Given the description of an element on the screen output the (x, y) to click on. 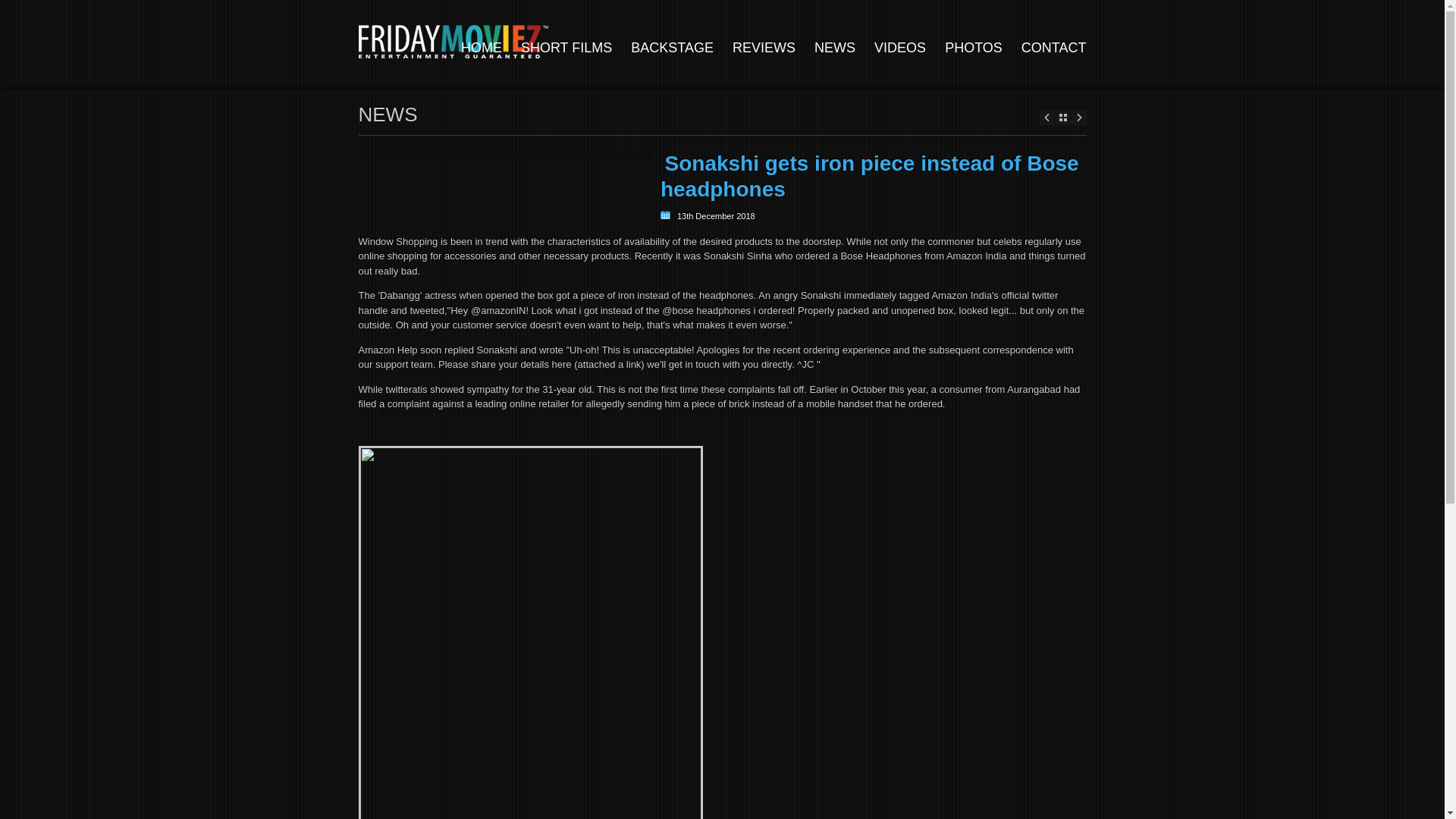
HOME (481, 47)
Sonakshi Sinha (737, 255)
BACKSTAGE (671, 47)
PHOTOS (973, 47)
NEWS (834, 47)
CONTACT (1054, 47)
Dabangg (400, 295)
REVIEWS (763, 47)
SHORT FILMS (566, 47)
VIDEOS (900, 47)
